Given the description of an element on the screen output the (x, y) to click on. 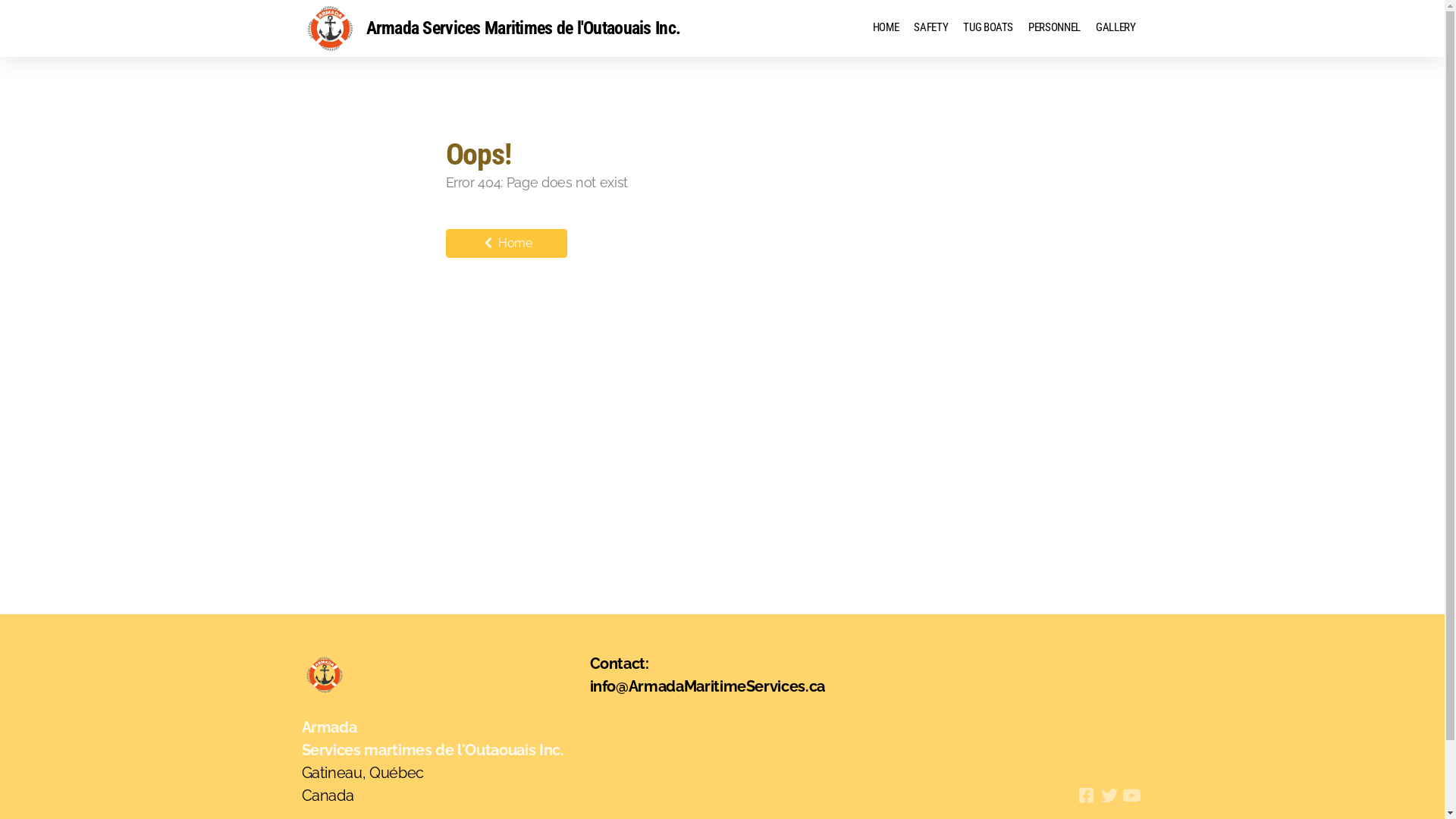
HOME Element type: text (885, 27)
GALLERY Element type: text (1115, 27)
Armada Services Maritimes de l'Outaouais Inc. Element type: text (490, 28)
Home Element type: text (506, 243)
PERSONNEL Element type: text (1054, 27)
SAFETY Element type: text (930, 27)
TUG BOATS Element type: text (987, 27)
